Given the description of an element on the screen output the (x, y) to click on. 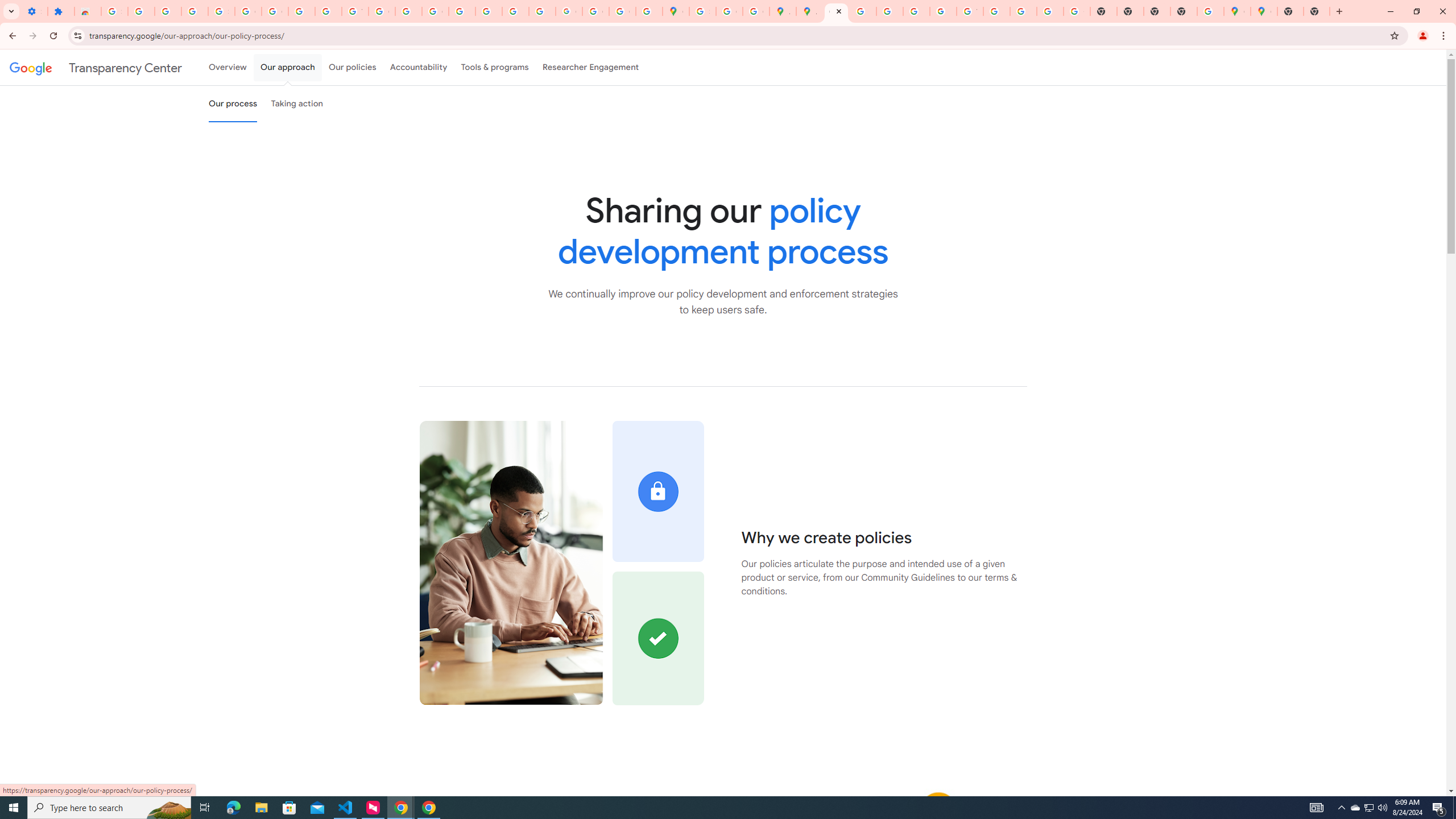
Accountability (418, 67)
Our process (232, 103)
Our approach (287, 67)
Privacy Help Center - Policies Help (462, 11)
Create your Google Account (729, 11)
